Given the description of an element on the screen output the (x, y) to click on. 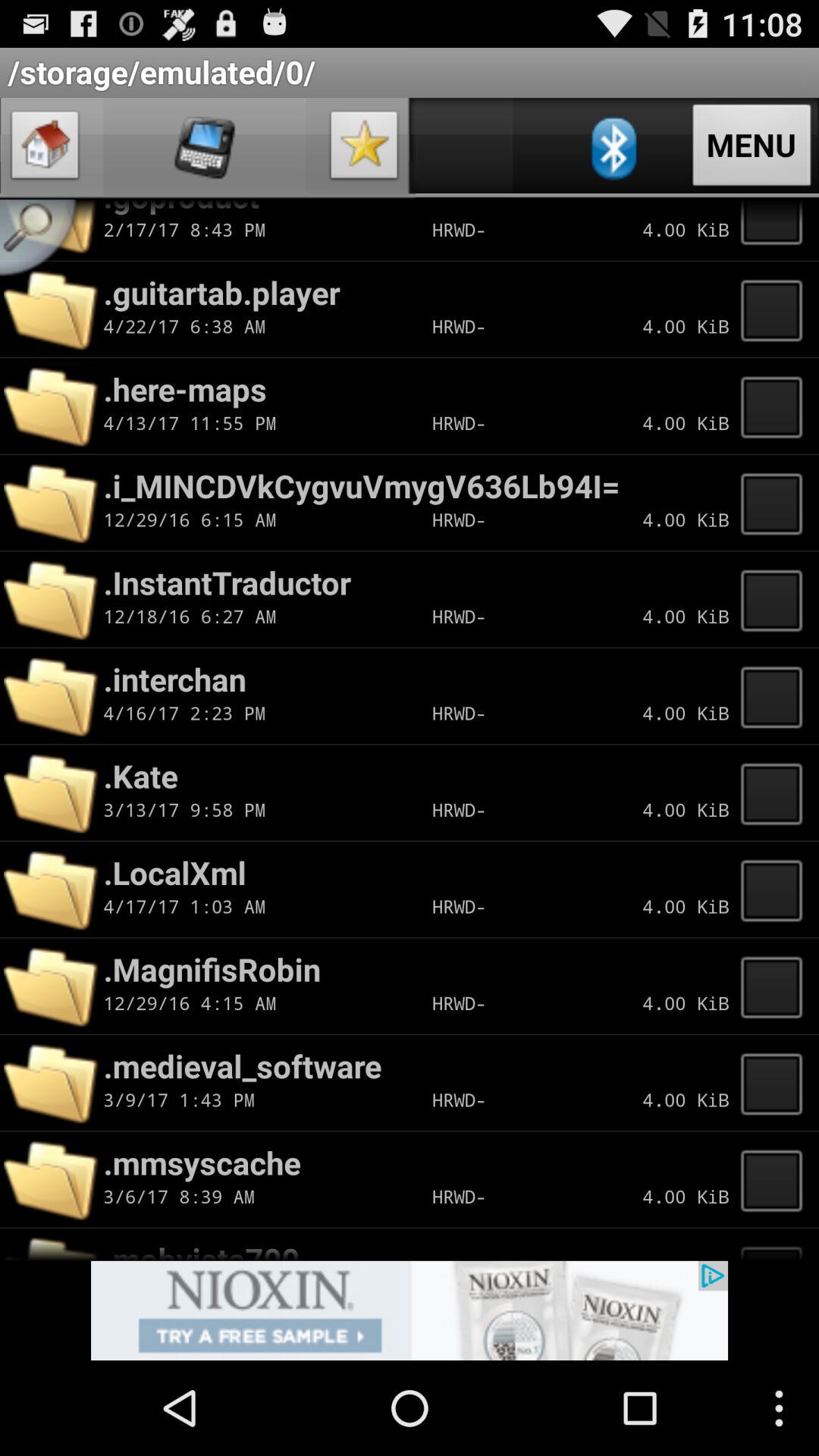
empty box button (776, 229)
